Given the description of an element on the screen output the (x, y) to click on. 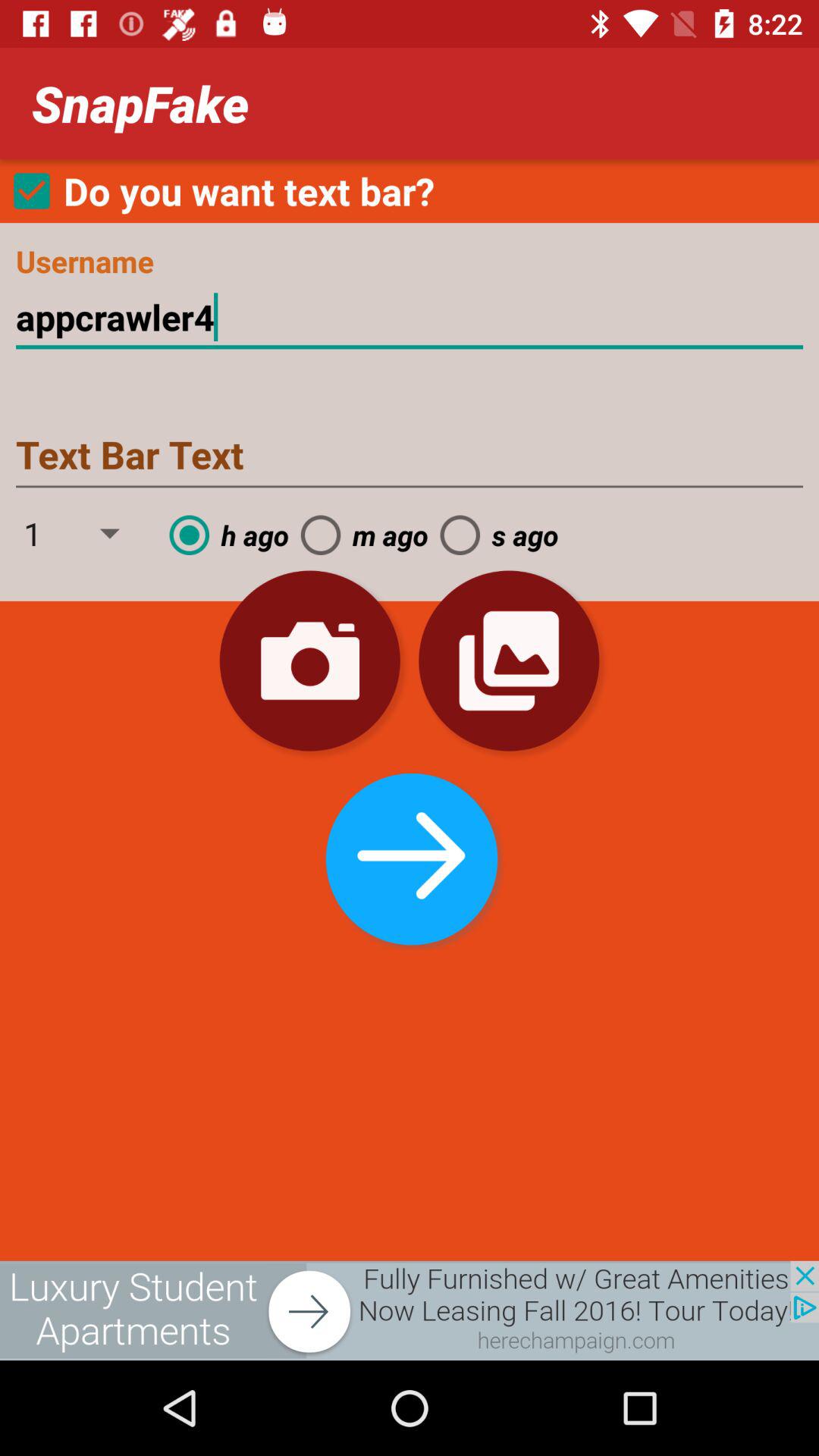
create snapshot (309, 660)
